Given the description of an element on the screen output the (x, y) to click on. 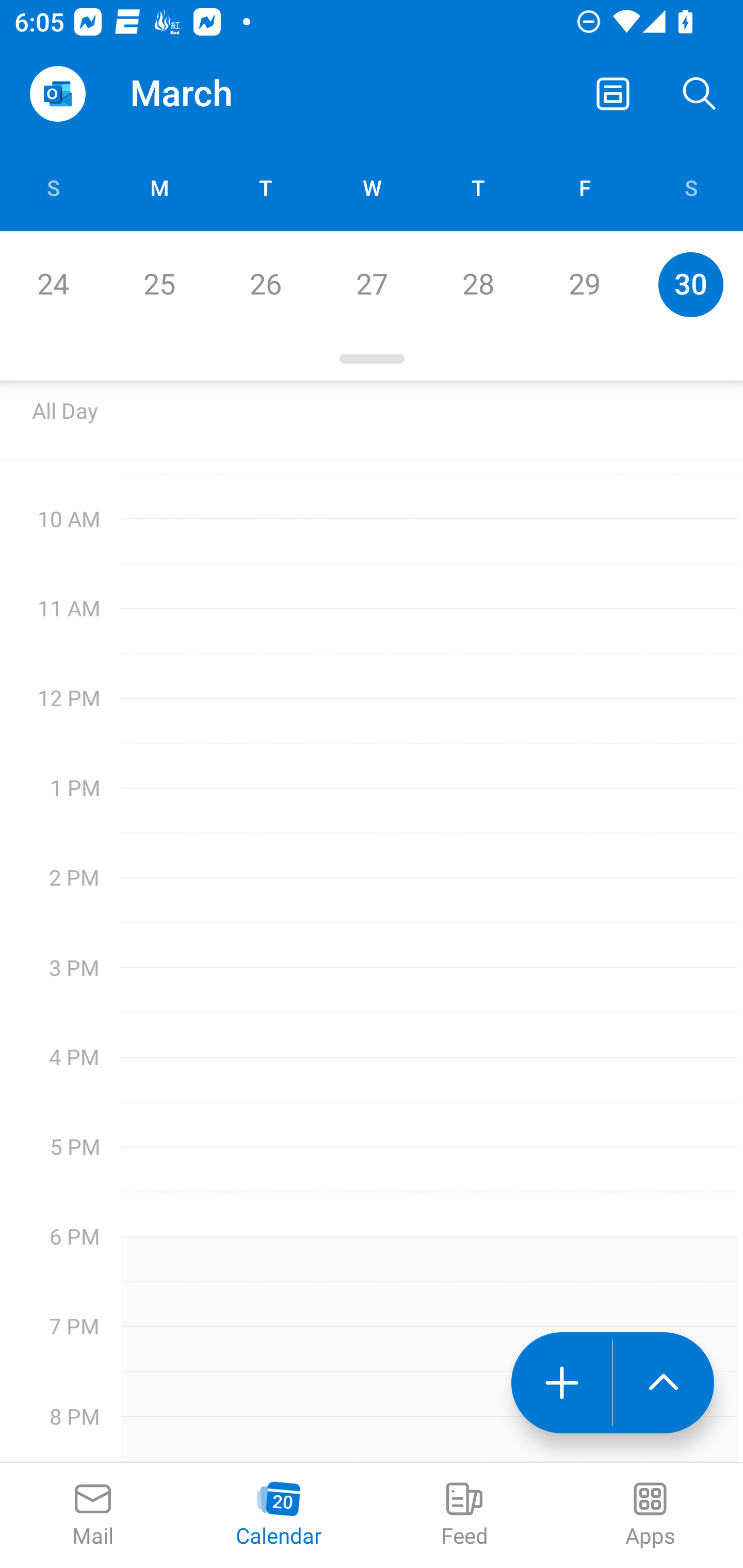
March March 2024, day picker (209, 93)
Switch away from Day view (612, 93)
Search, ,  (699, 93)
Open Navigation Drawer (57, 94)
24 Sunday, March 24 (53, 284)
25 Monday, March 25 (159, 284)
26 Tuesday, March 26 (265, 284)
27 Wednesday, March 27 (371, 284)
28 Thursday, March 28 (477, 284)
29 Friday, March 29 (584, 284)
30 Saturday, March 30, Selected (690, 284)
Day picker (371, 359)
New event (561, 1382)
launch the extended action menu (663, 1382)
Mail (92, 1515)
Feed (464, 1515)
Apps (650, 1515)
